Given the description of an element on the screen output the (x, y) to click on. 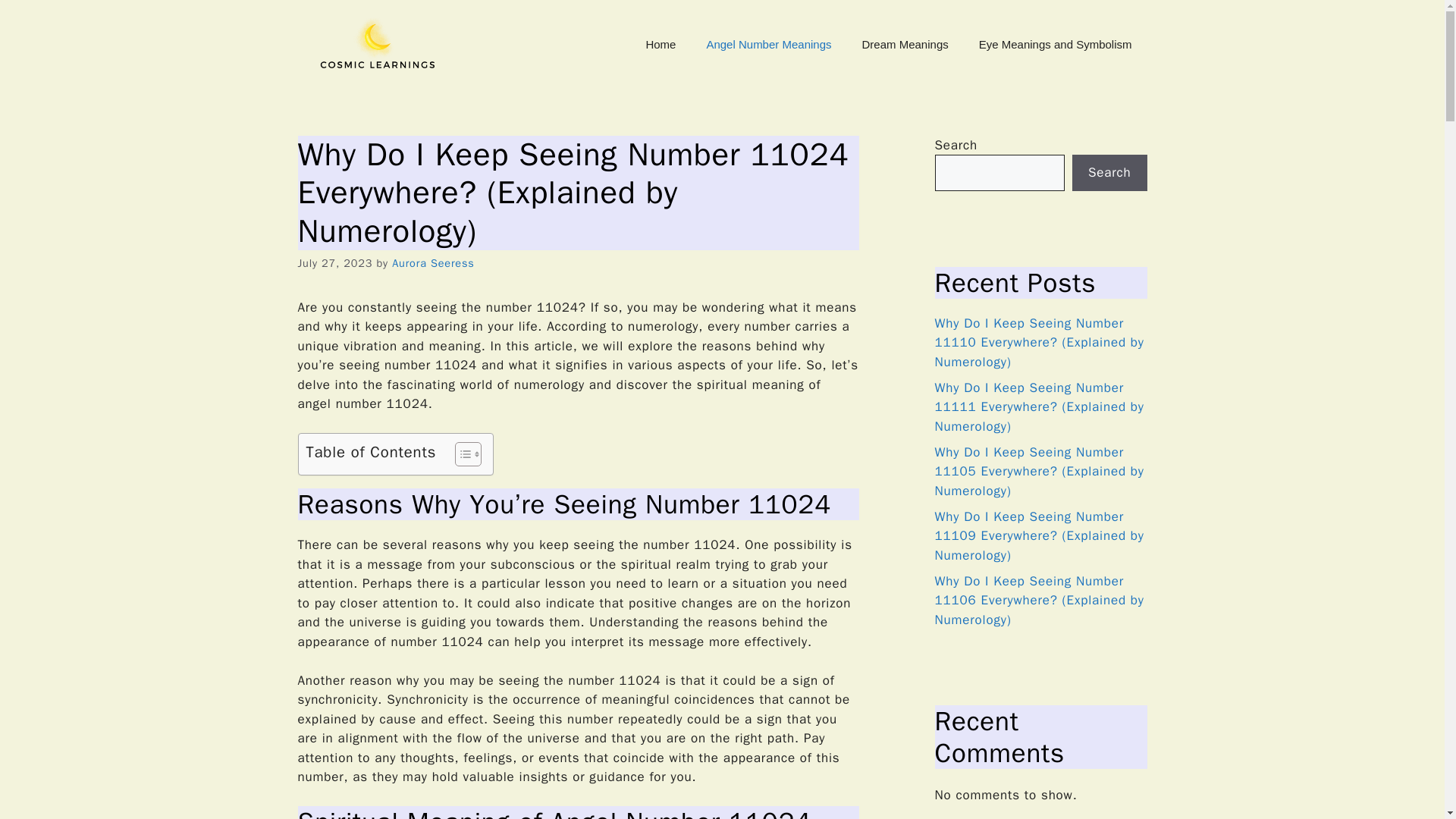
View all posts by Aurora Seeress (432, 263)
Eye Meanings and Symbolism (1055, 44)
Angel Number Meanings (767, 44)
Dream Meanings (905, 44)
Aurora Seeress (432, 263)
Home (660, 44)
